Given the description of an element on the screen output the (x, y) to click on. 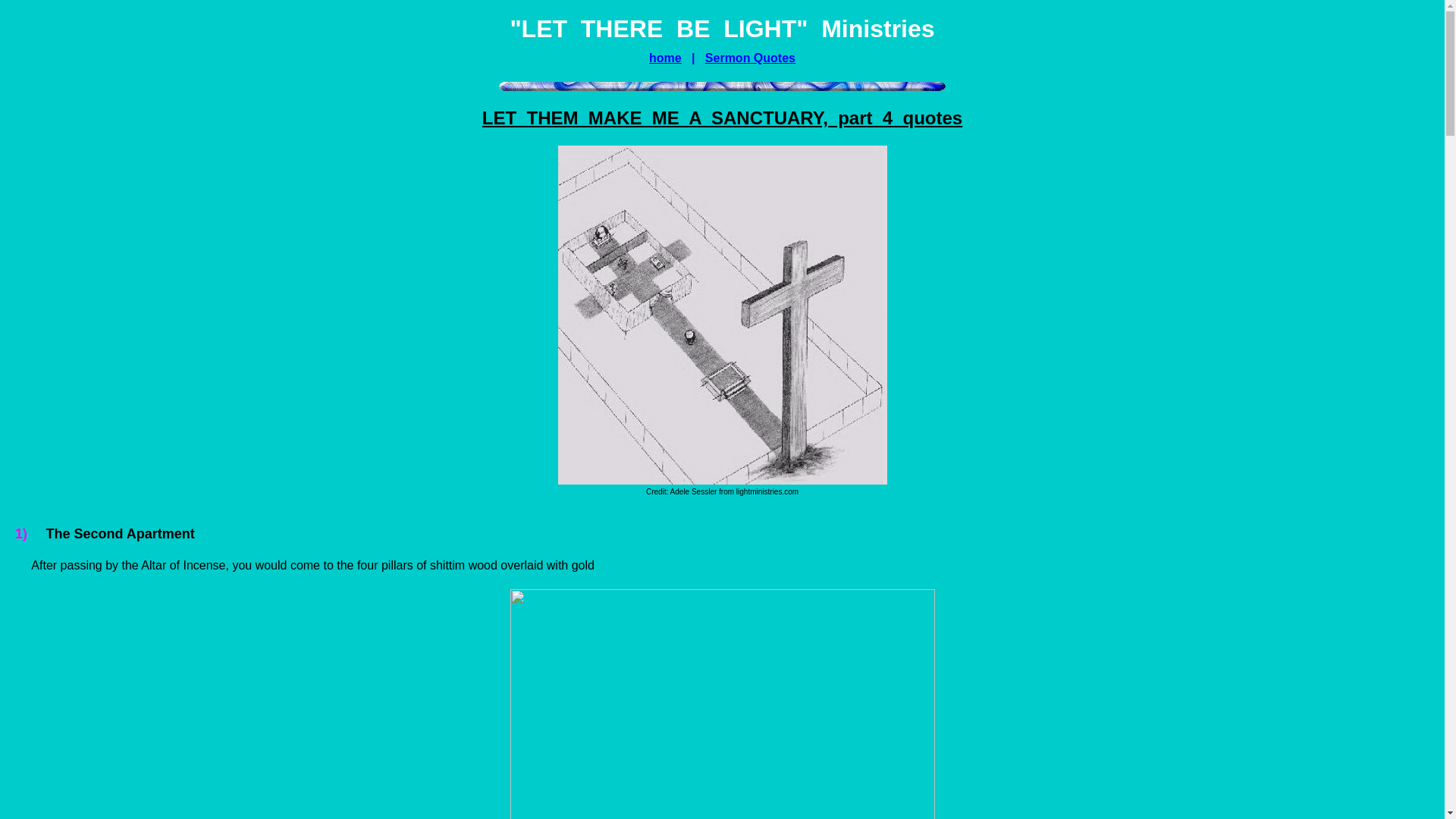
home (665, 57)
Sermon Quotes (749, 57)
LET THERE BE LIGHT Ministries (665, 57)
Sermon Quotes (749, 57)
